Given the description of an element on the screen output the (x, y) to click on. 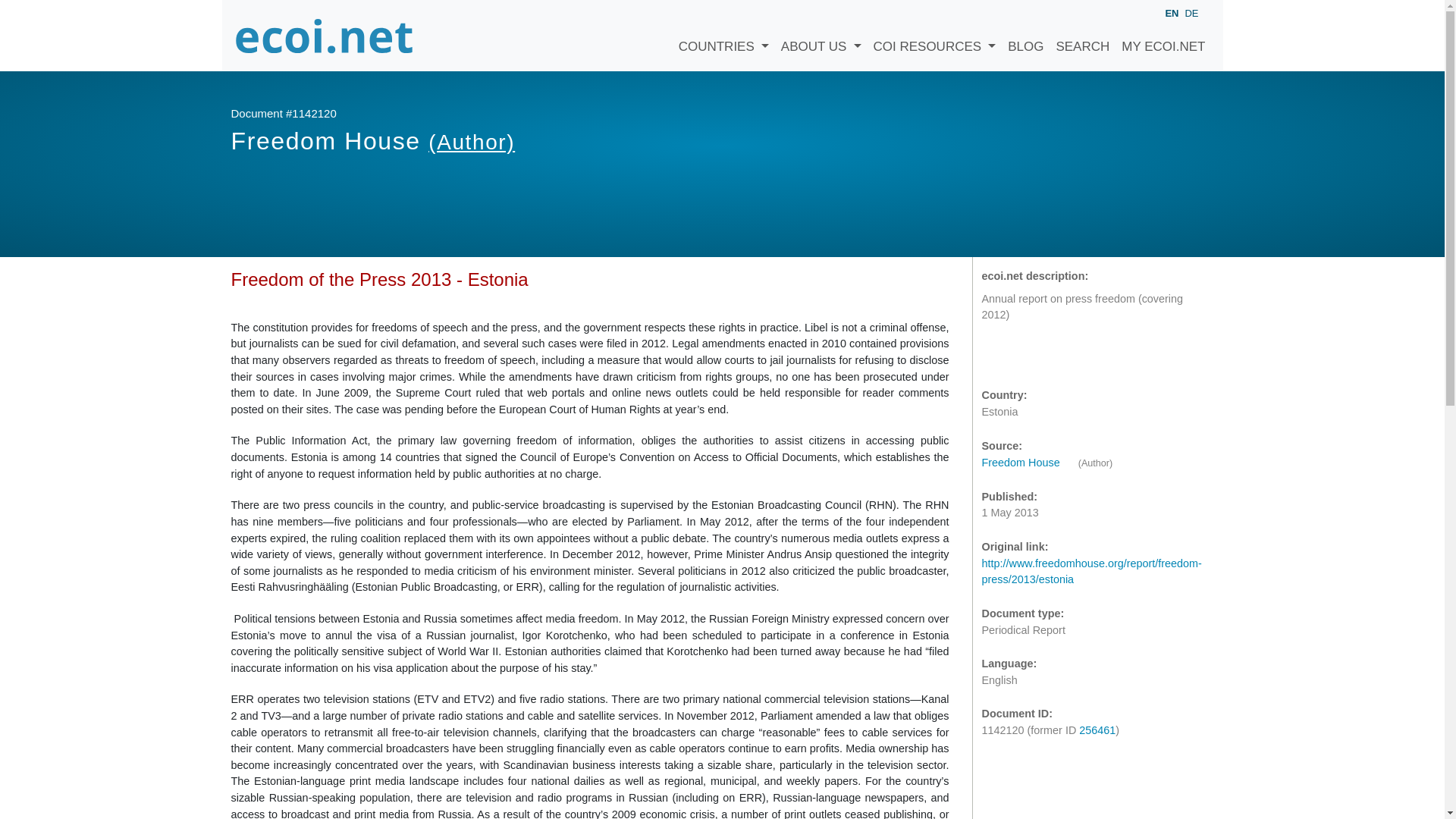
English (1170, 13)
256461 (1096, 729)
MY ECOI.NET (1163, 35)
Freedom House (1027, 462)
Cite as (996, 357)
BLOG (1025, 35)
SEARCH (1082, 35)
COUNTRIES (723, 35)
DE (1190, 12)
COI RESOURCES (935, 35)
Permalink (1056, 357)
ABOUT US (820, 35)
German (1190, 12)
Go to ecoi.net homepage (323, 35)
Read source description (1027, 462)
